Given the description of an element on the screen output the (x, y) to click on. 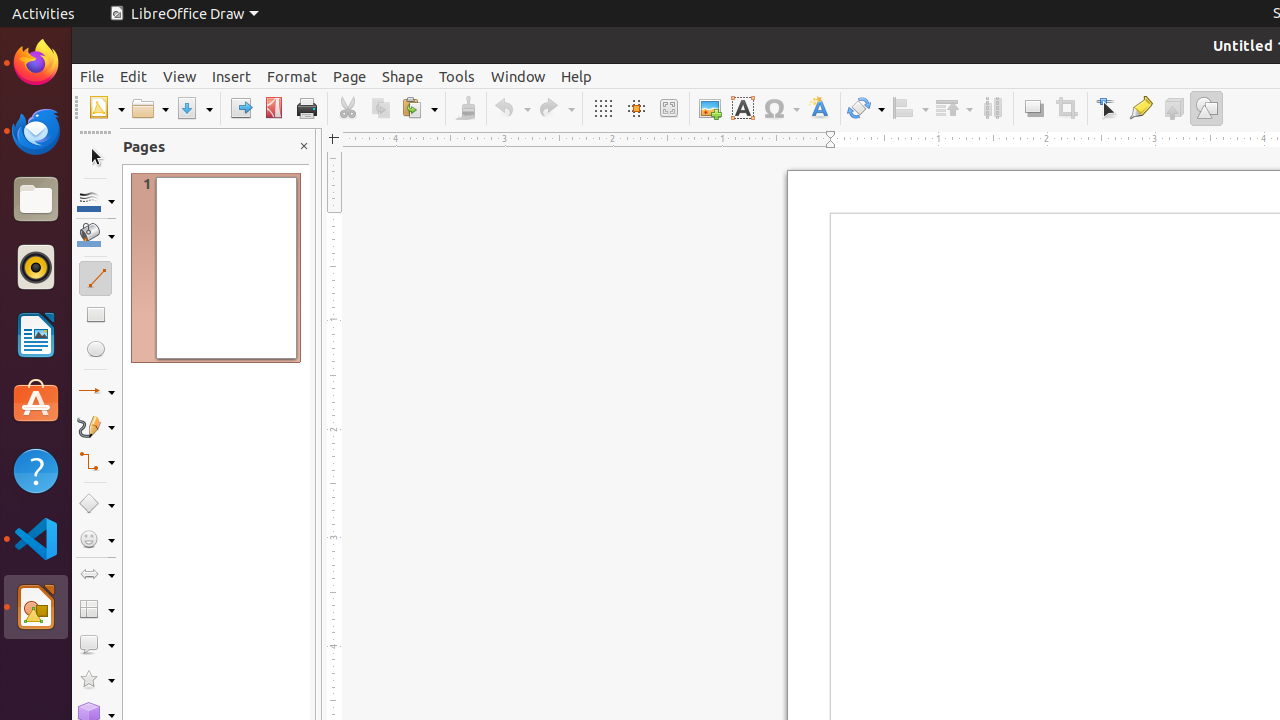
LibreOffice Draw Element type: push-button (36, 607)
File Element type: menu (92, 76)
Shape Element type: menu (402, 76)
Edit Element type: menu (133, 76)
Toggle Extrusion Element type: push-button (1173, 108)
